Given the description of an element on the screen output the (x, y) to click on. 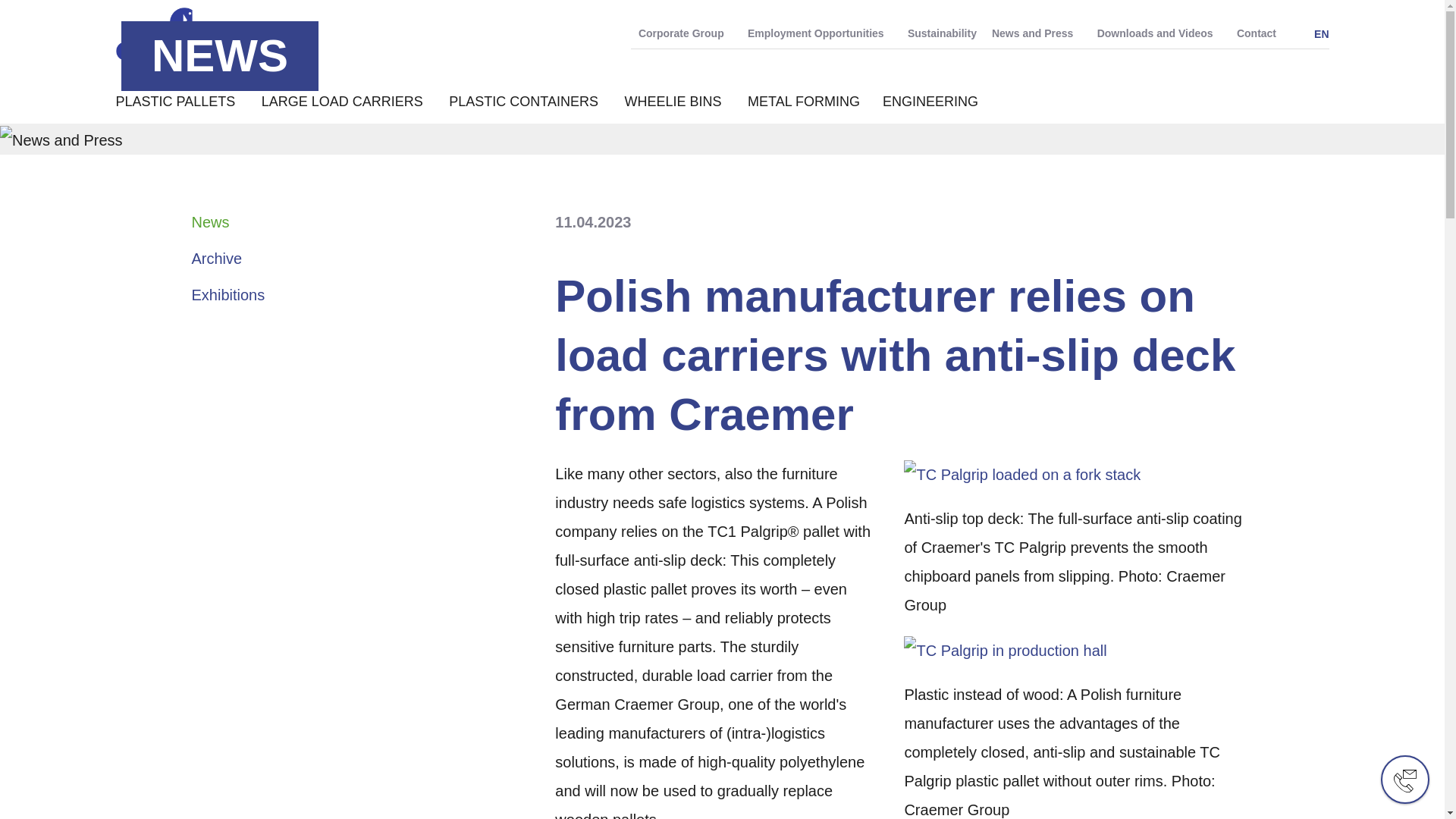
Contact (1256, 32)
Sustainability (941, 32)
Downloads and Videos   (1158, 32)
EN (1316, 33)
News and Press   (1036, 32)
Employment Opportunities   (819, 32)
Corporate Group   (684, 32)
